Given the description of an element on the screen output the (x, y) to click on. 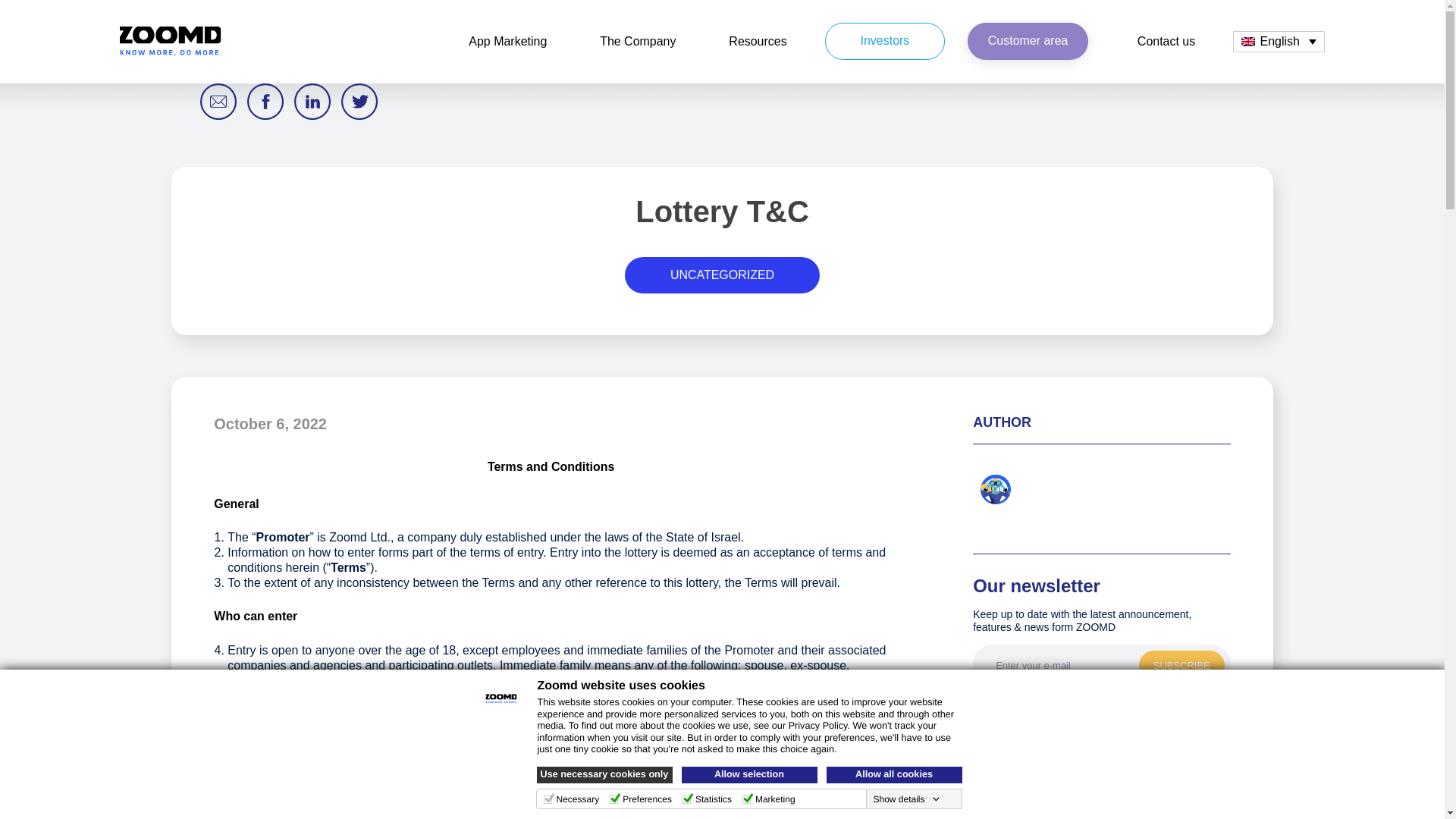
Use necessary cookies only (604, 774)
Show details (905, 799)
Allow selection (748, 774)
SUBSCRIBE (1181, 665)
Allow all cookies (894, 774)
